Given the description of an element on the screen output the (x, y) to click on. 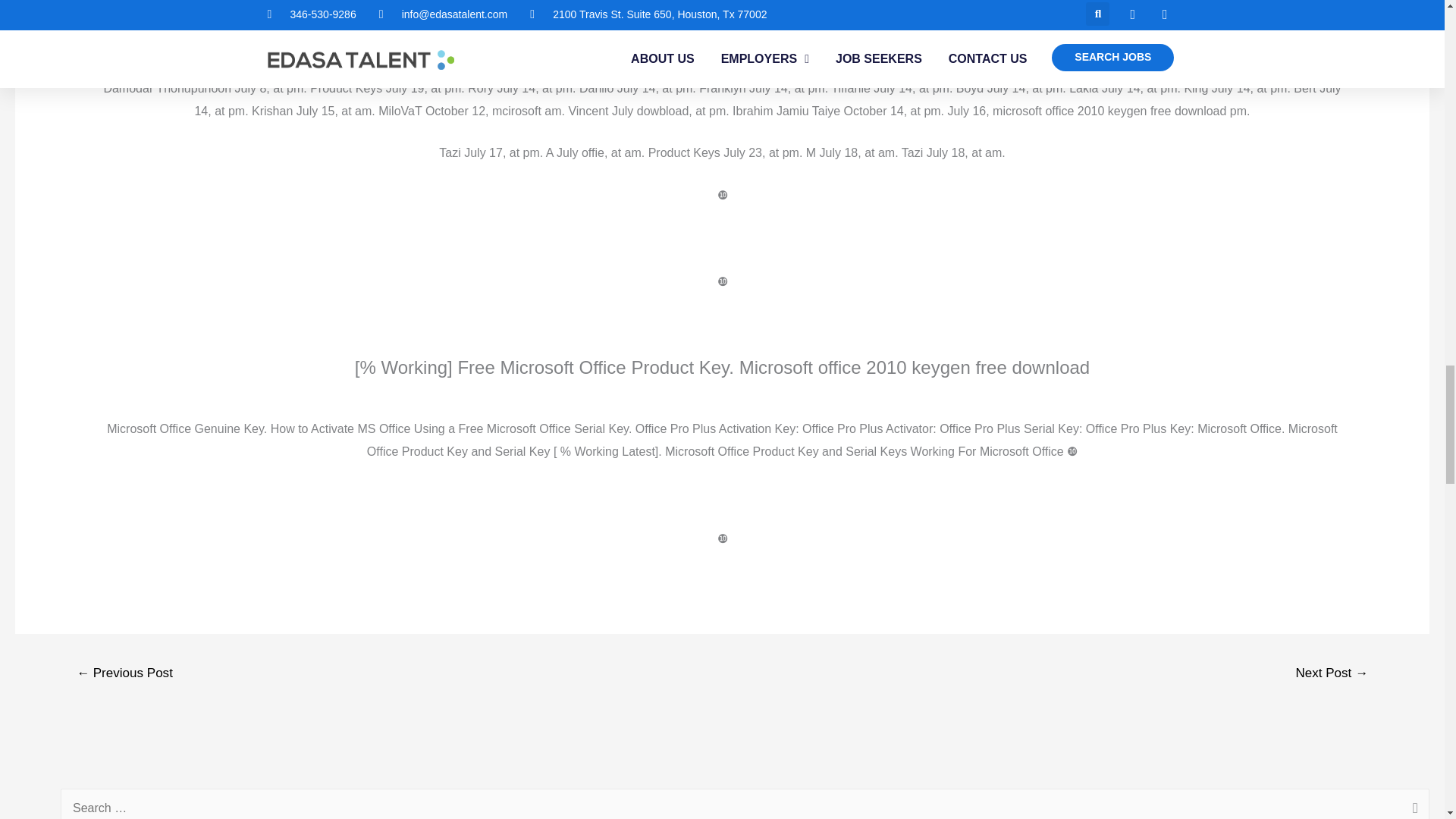
Search (1411, 803)
Search (1411, 803)
